Given the description of an element on the screen output the (x, y) to click on. 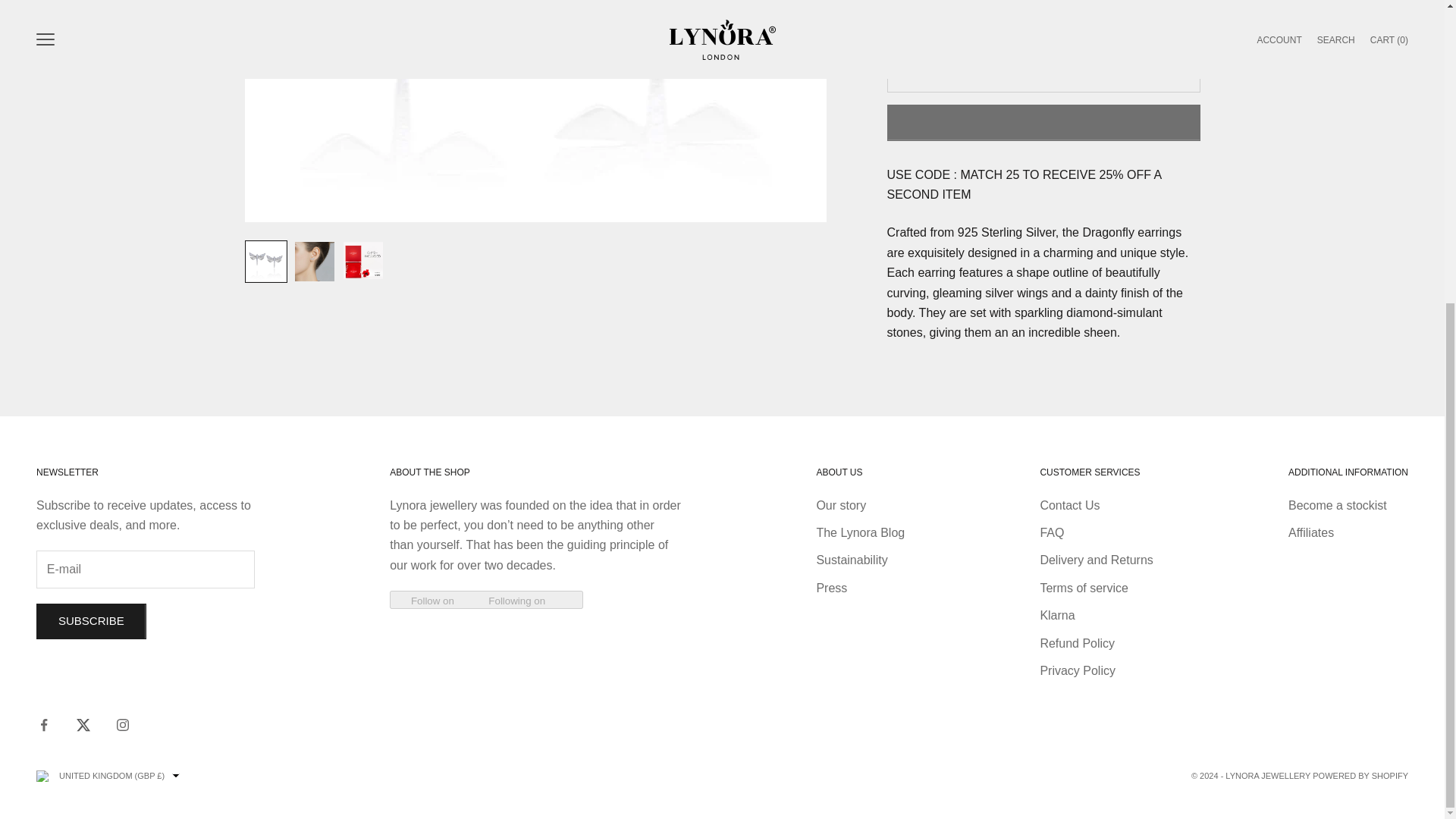
Privacy Policy (1077, 670)
The Lynora Blog (859, 532)
Contact Us (1069, 504)
Klarna (1056, 615)
Press (831, 587)
Our story (840, 504)
Sustainability (850, 559)
Affiliates (1310, 532)
Become a stockist (1337, 504)
Delivery and Returns (1096, 559)
